Given the description of an element on the screen output the (x, y) to click on. 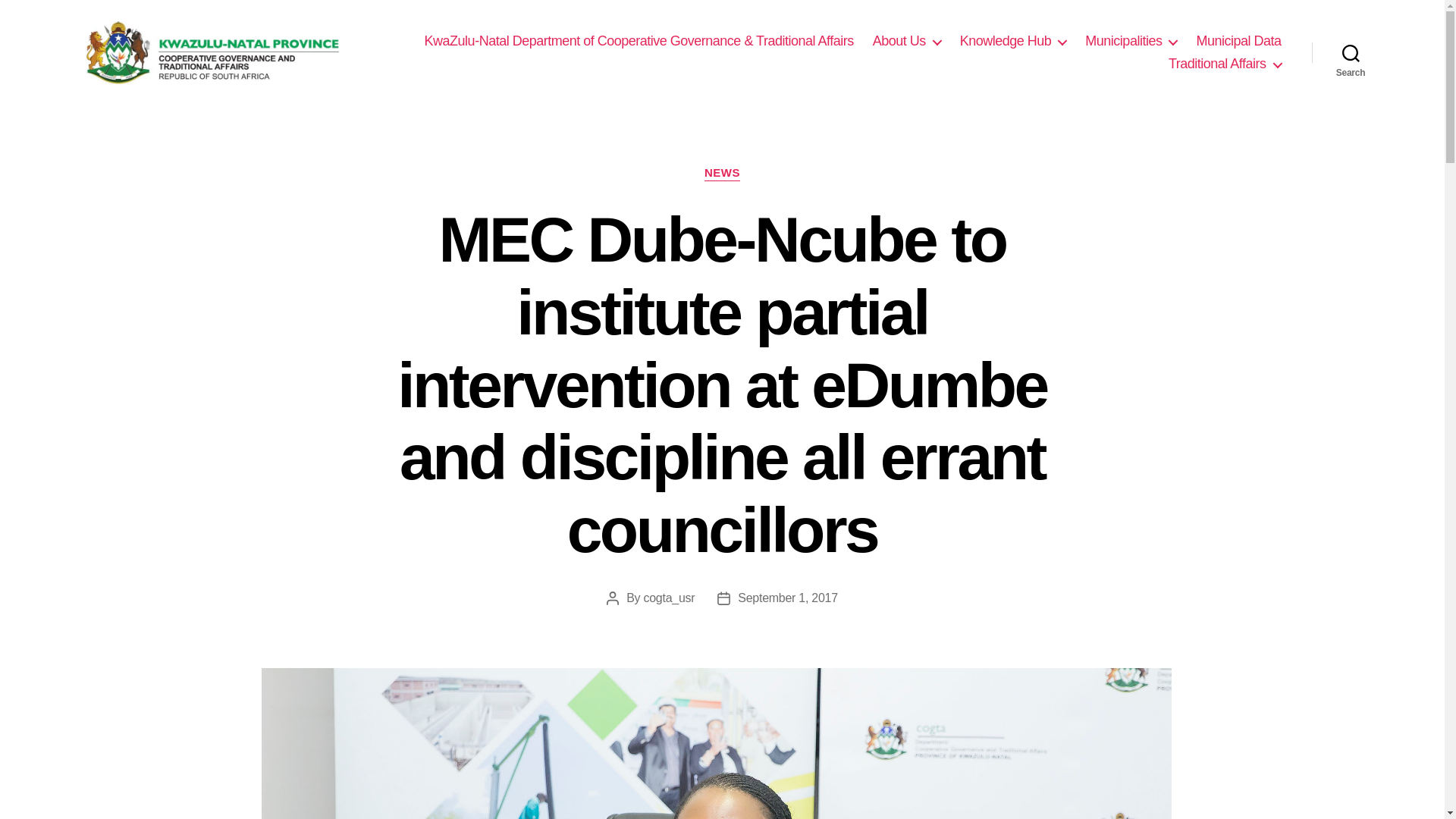
Municipalities (1130, 41)
About Us (906, 41)
Knowledge Hub (1013, 41)
